Given the description of an element on the screen output the (x, y) to click on. 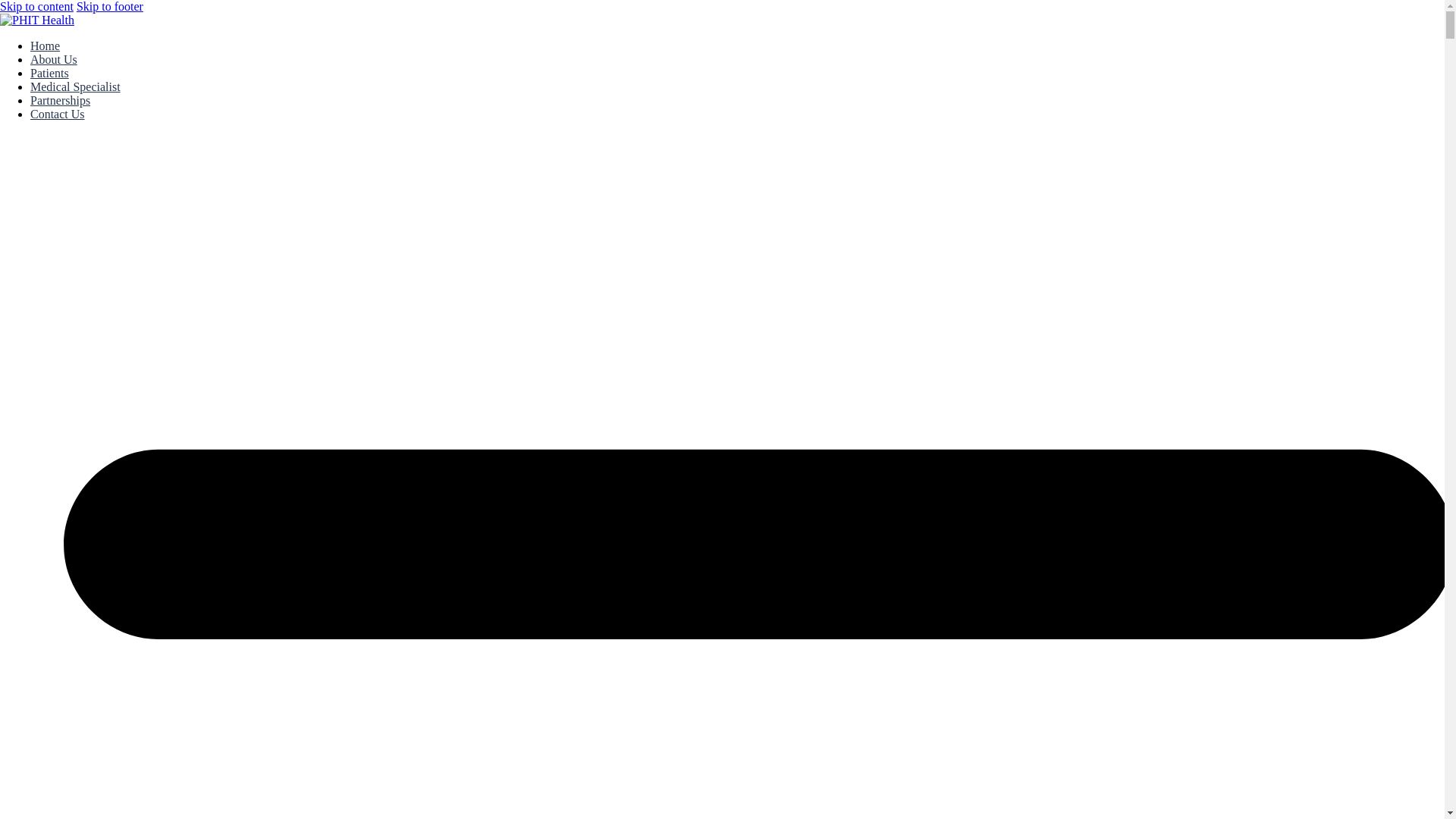
Skip to content (37, 6)
Contact Us (57, 113)
Skip to footer (109, 6)
Medical Specialist (75, 86)
Home (44, 45)
About Us (53, 59)
Patients (49, 72)
Partnerships (60, 100)
